Given the description of an element on the screen output the (x, y) to click on. 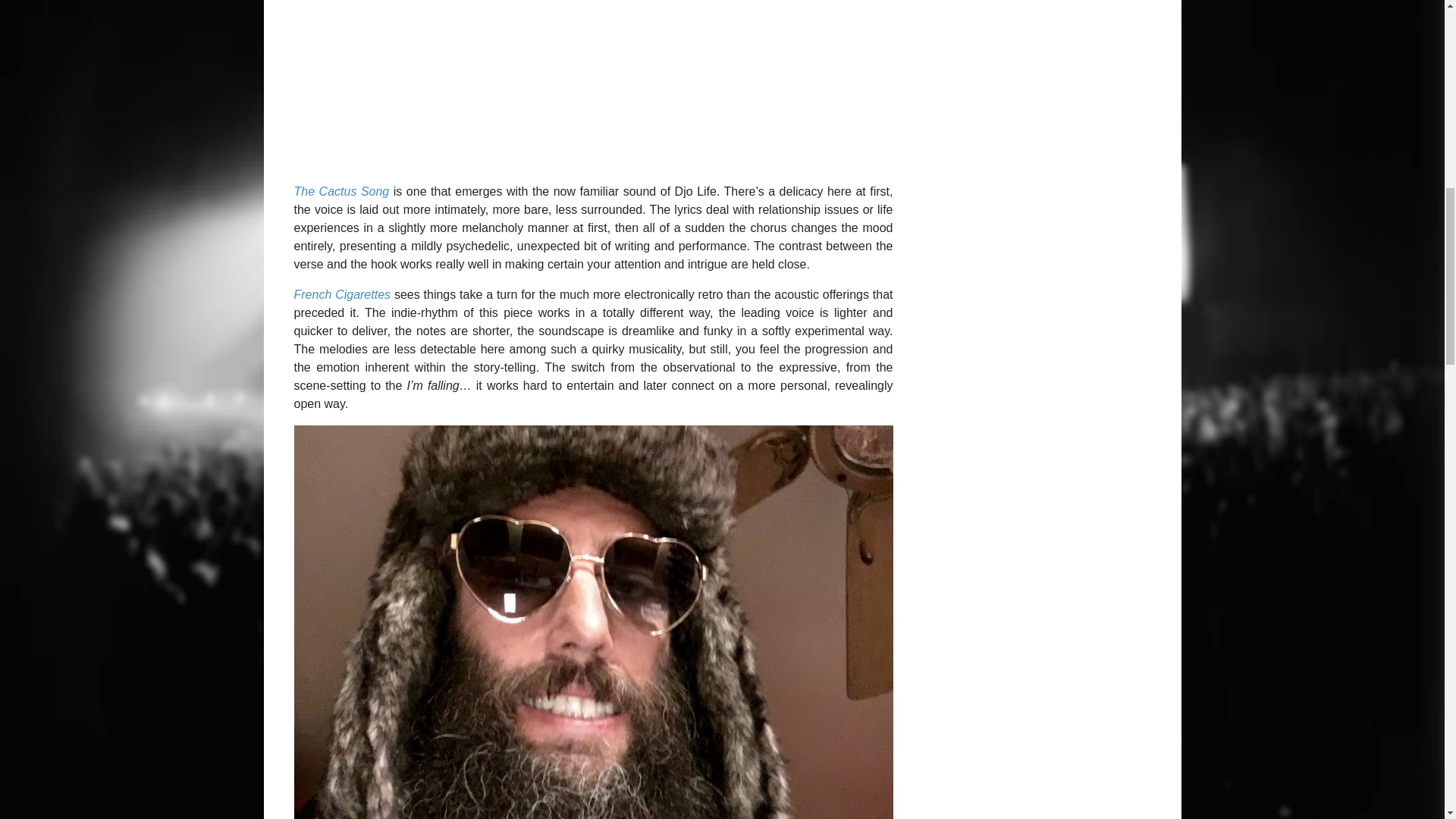
The Cactus Song (342, 191)
French Cigarettes (342, 294)
Anytime, Every Time (593, 82)
